Given the description of an element on the screen output the (x, y) to click on. 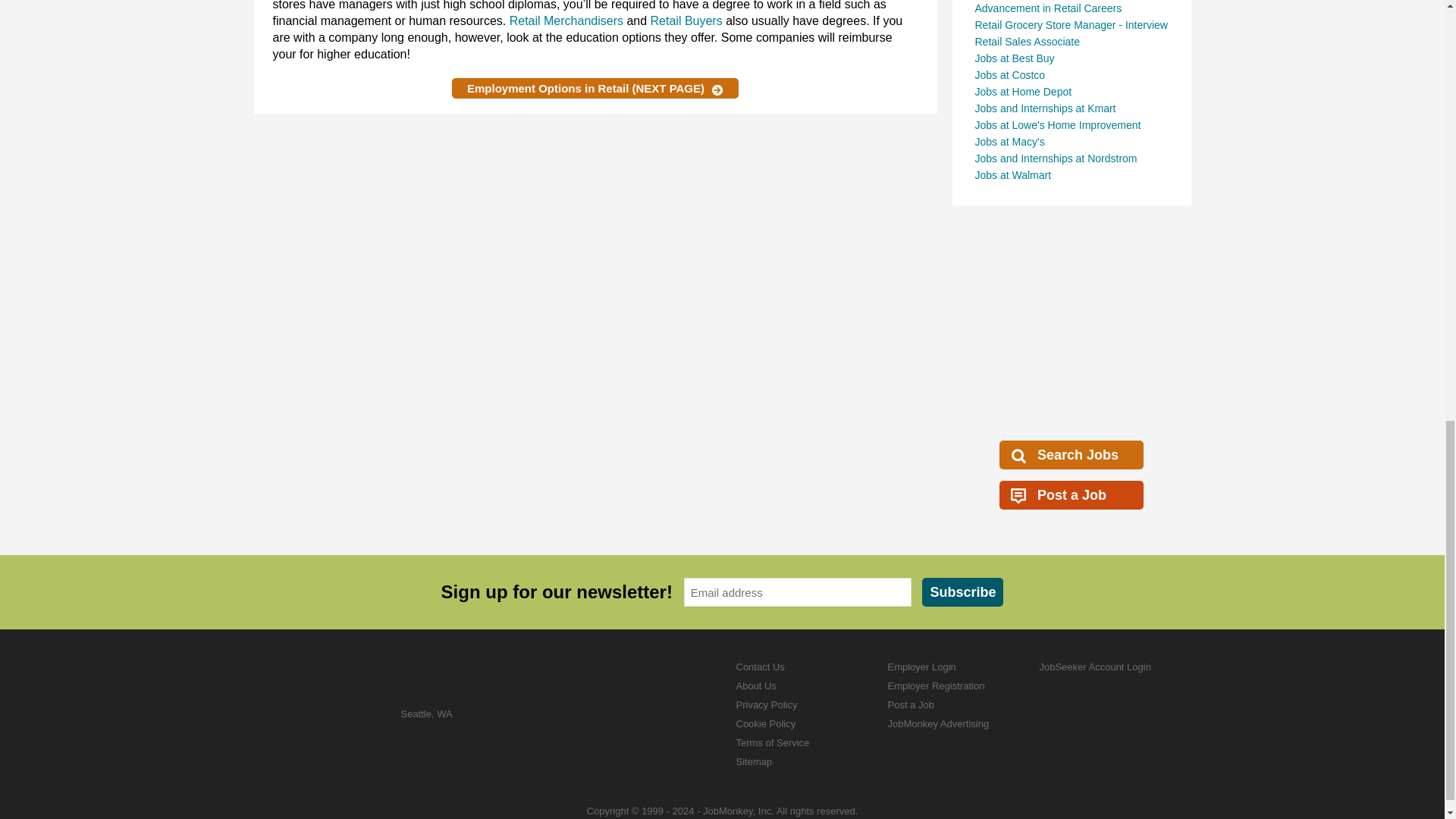
Subscribe (962, 592)
